Given the description of an element on the screen output the (x, y) to click on. 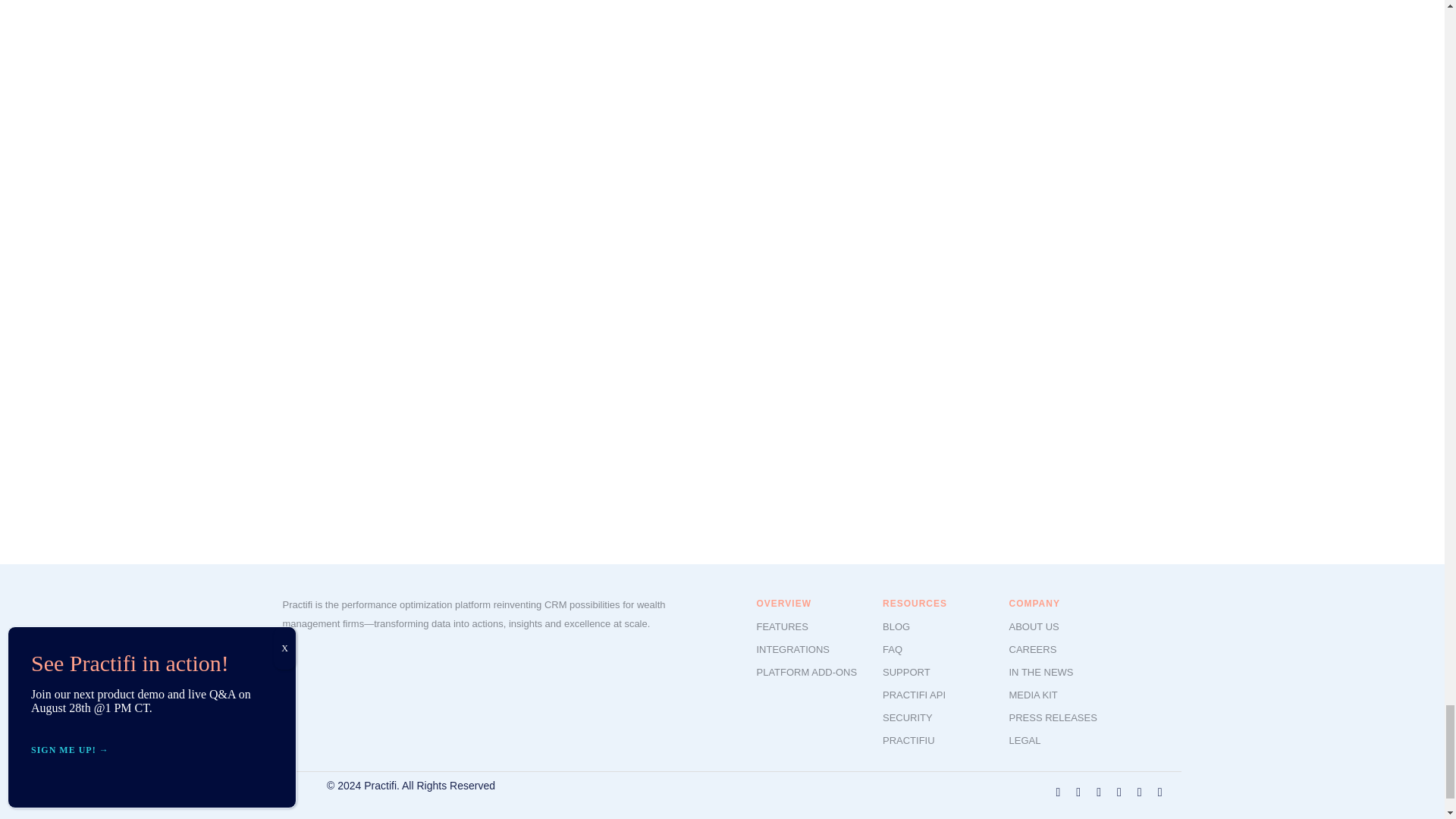
SUPPORT (906, 672)
FAQ (892, 649)
PRACTIFIU (908, 740)
LEGAL (1025, 740)
INTEGRATIONS (793, 649)
PLATFORM ADD-ONS (807, 672)
BLOG (896, 626)
ABOUT US (1033, 626)
SECURITY (907, 717)
CAREERS (1033, 649)
